Given the description of an element on the screen output the (x, y) to click on. 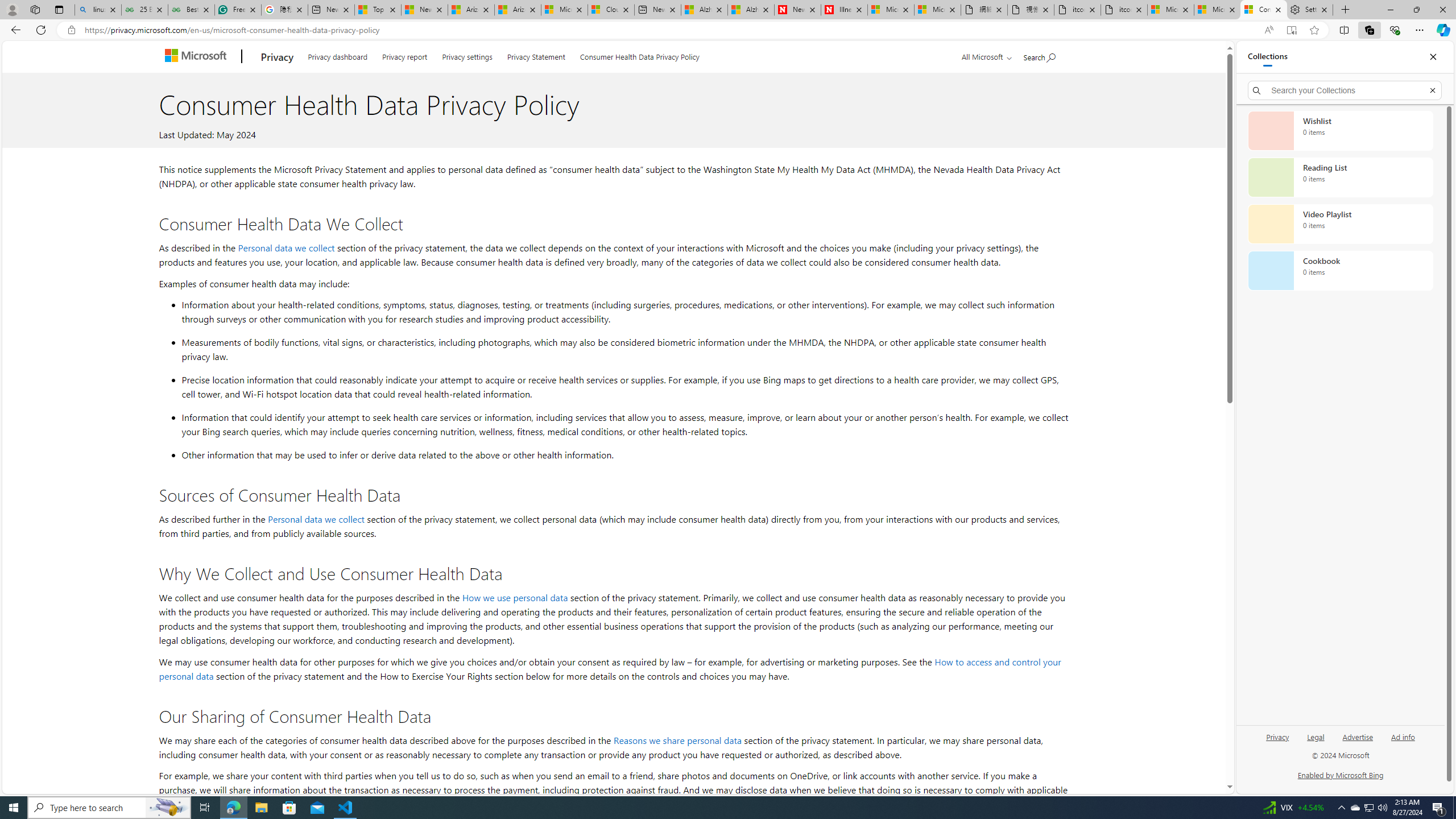
How to access and control your personal data (609, 668)
Privacy settings (466, 54)
Reasons we share personal data (676, 739)
Privacy settings (466, 54)
Top Stories - MSN (377, 9)
Illness news & latest pictures from Newsweek.com (844, 9)
Personal data we collect (315, 518)
25 Basic Linux Commands For Beginners - GeeksforGeeks (144, 9)
Search your Collections (1345, 90)
